Given the description of an element on the screen output the (x, y) to click on. 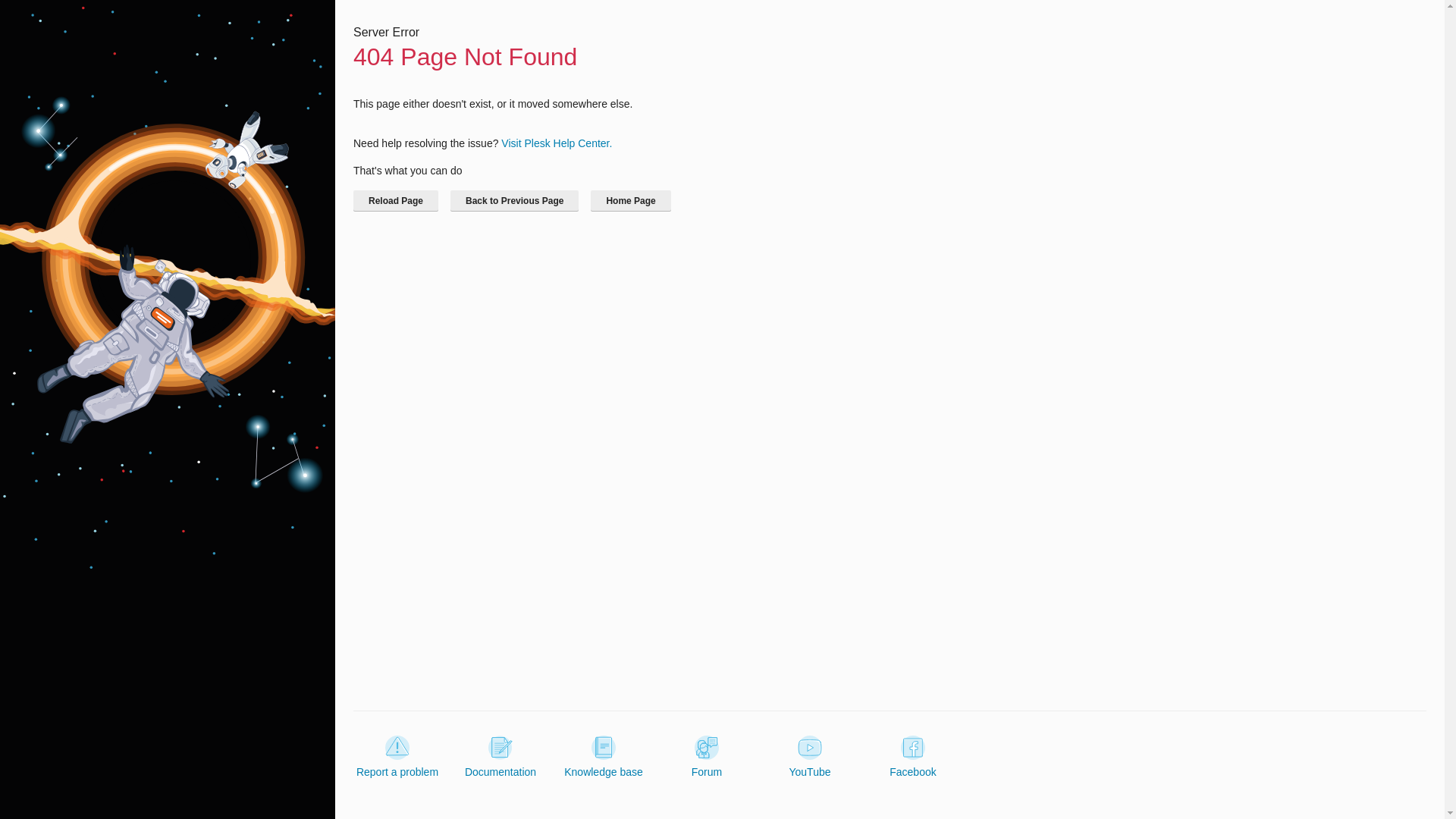
Documentation (500, 757)
Back to Previous Page (513, 200)
Facebook (912, 757)
Report a problem (397, 757)
Visit Plesk Help Center. (555, 143)
YouTube (809, 757)
Forum (706, 757)
Knowledge base (603, 757)
Reload Page (395, 200)
Home Page (630, 200)
